Given the description of an element on the screen output the (x, y) to click on. 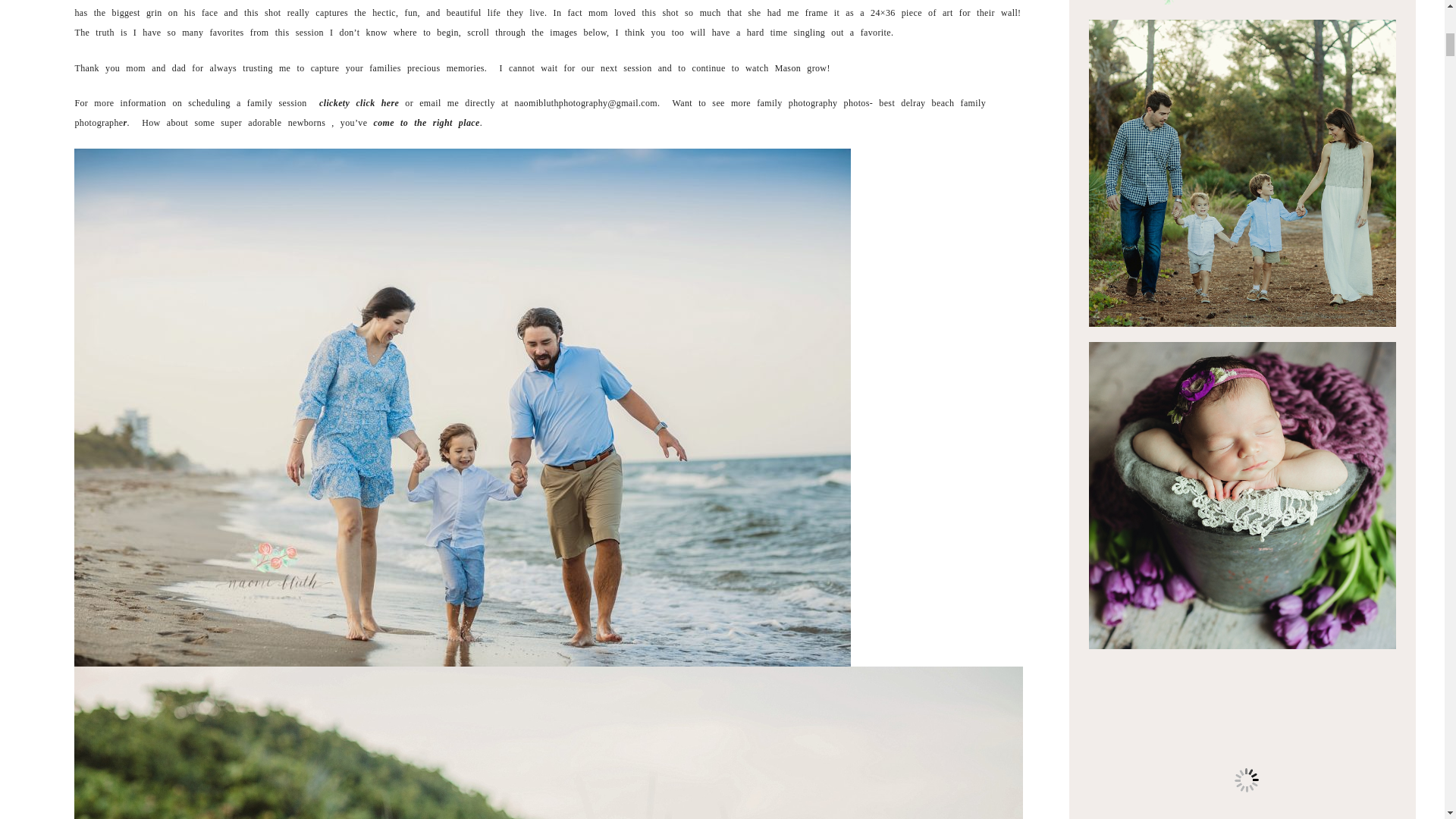
clickety click here (358, 102)
